Given the description of an element on the screen output the (x, y) to click on. 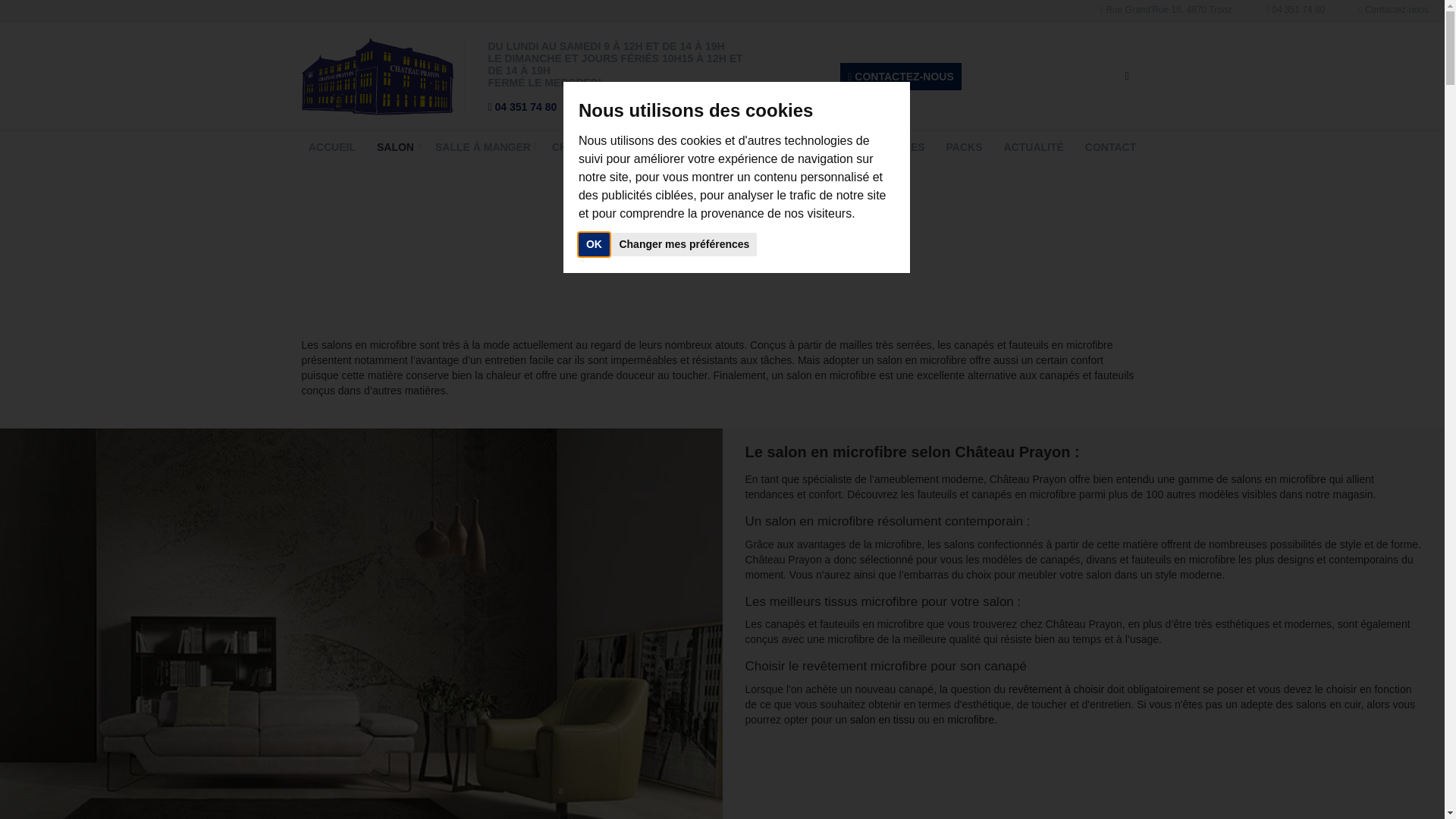
microfibre Element type: text (970, 719)
LITERIE Element type: text (647, 146)
SALON Element type: text (395, 146)
CHAMBRE Element type: text (579, 146)
PACKS Element type: text (964, 146)
Rue Grand'Rue 16, 4870 Trooz Element type: text (1166, 9)
OK Element type: text (593, 243)
ACCESSOIRES Element type: text (886, 146)
salon en tissu Element type: text (882, 719)
CONTACT Element type: text (1110, 146)
CONTACTEZ-NOUS Element type: text (900, 76)
04 351 74 80 Element type: text (1295, 9)
ACCUEIL Element type: text (331, 146)
FAUTEUIL Element type: text (799, 146)
Contactez-nous Element type: text (1393, 9)
04 351 74 80 Element type: text (522, 106)
